Given the description of an element on the screen output the (x, y) to click on. 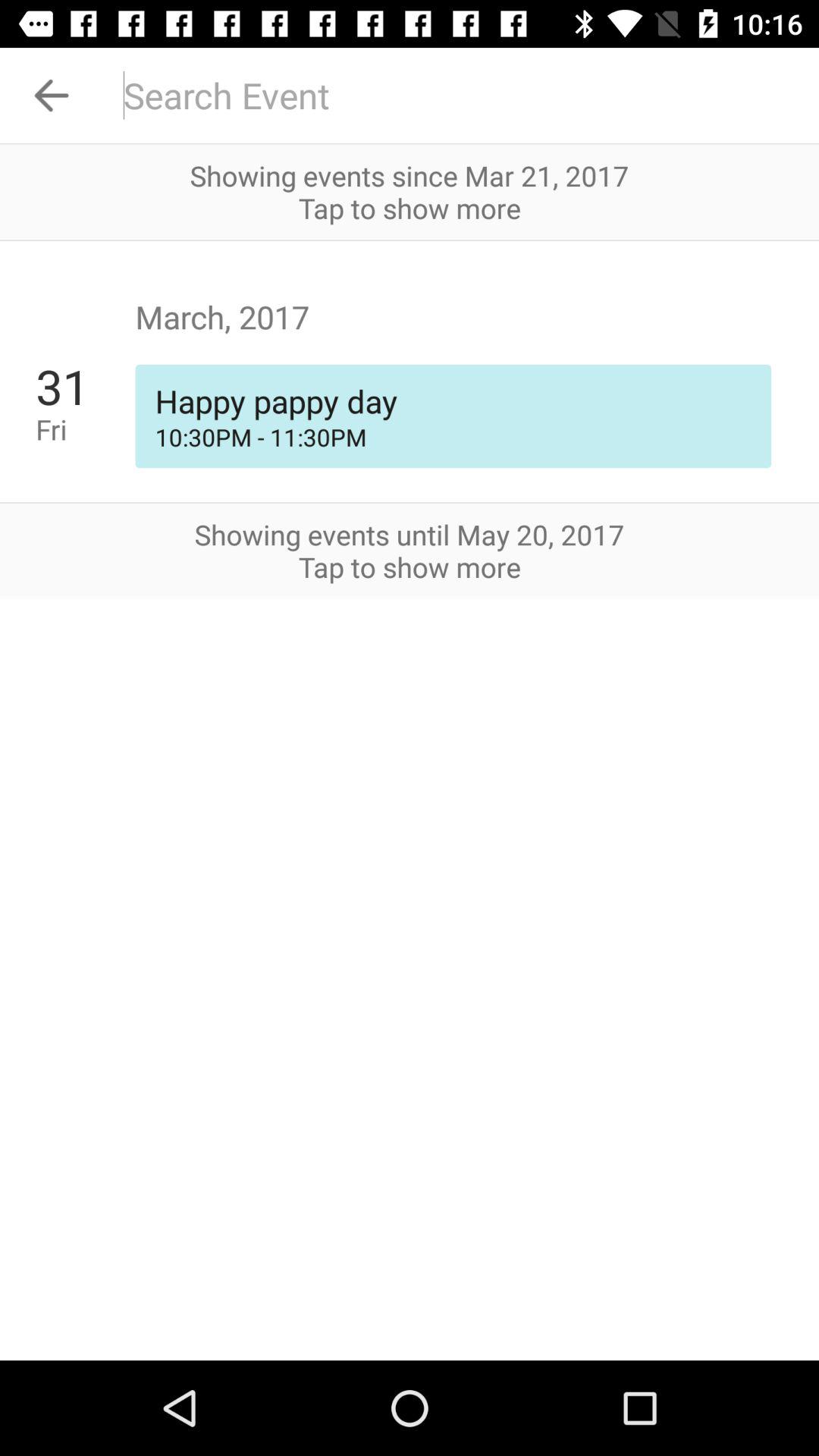
press item to the left of the happy pappy day item (85, 429)
